Given the description of an element on the screen output the (x, y) to click on. 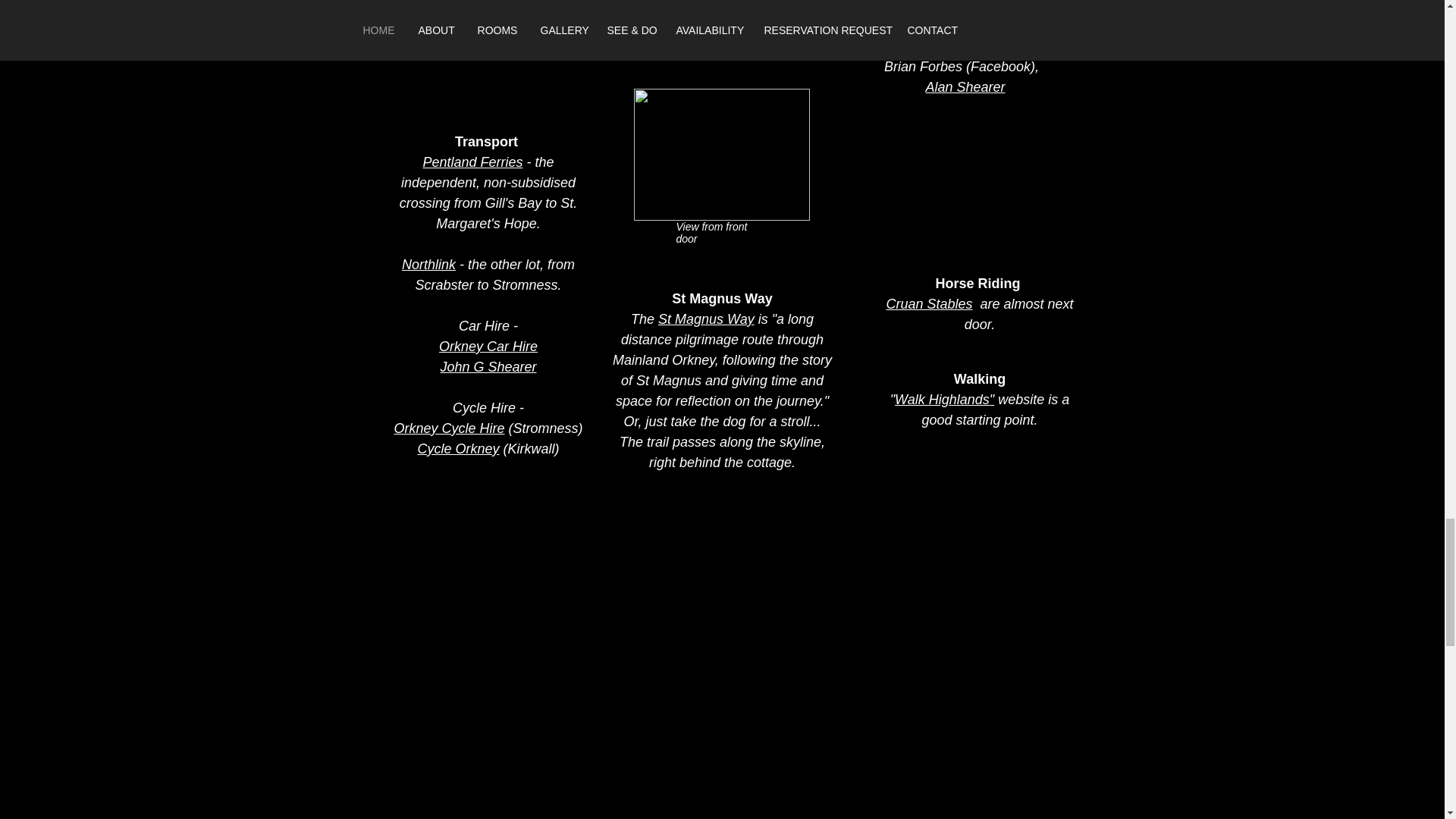
Walk Highlands" (944, 399)
Orkney Cycle Hire (448, 427)
Alan Shearer (964, 87)
St Magnus Way (706, 319)
Northlink (428, 264)
Orkney Car Hire (488, 346)
Cycle Orkney (457, 448)
Cruan Stables (928, 304)
Pentland Ferries (472, 161)
John G Shearer (487, 366)
